Given the description of an element on the screen output the (x, y) to click on. 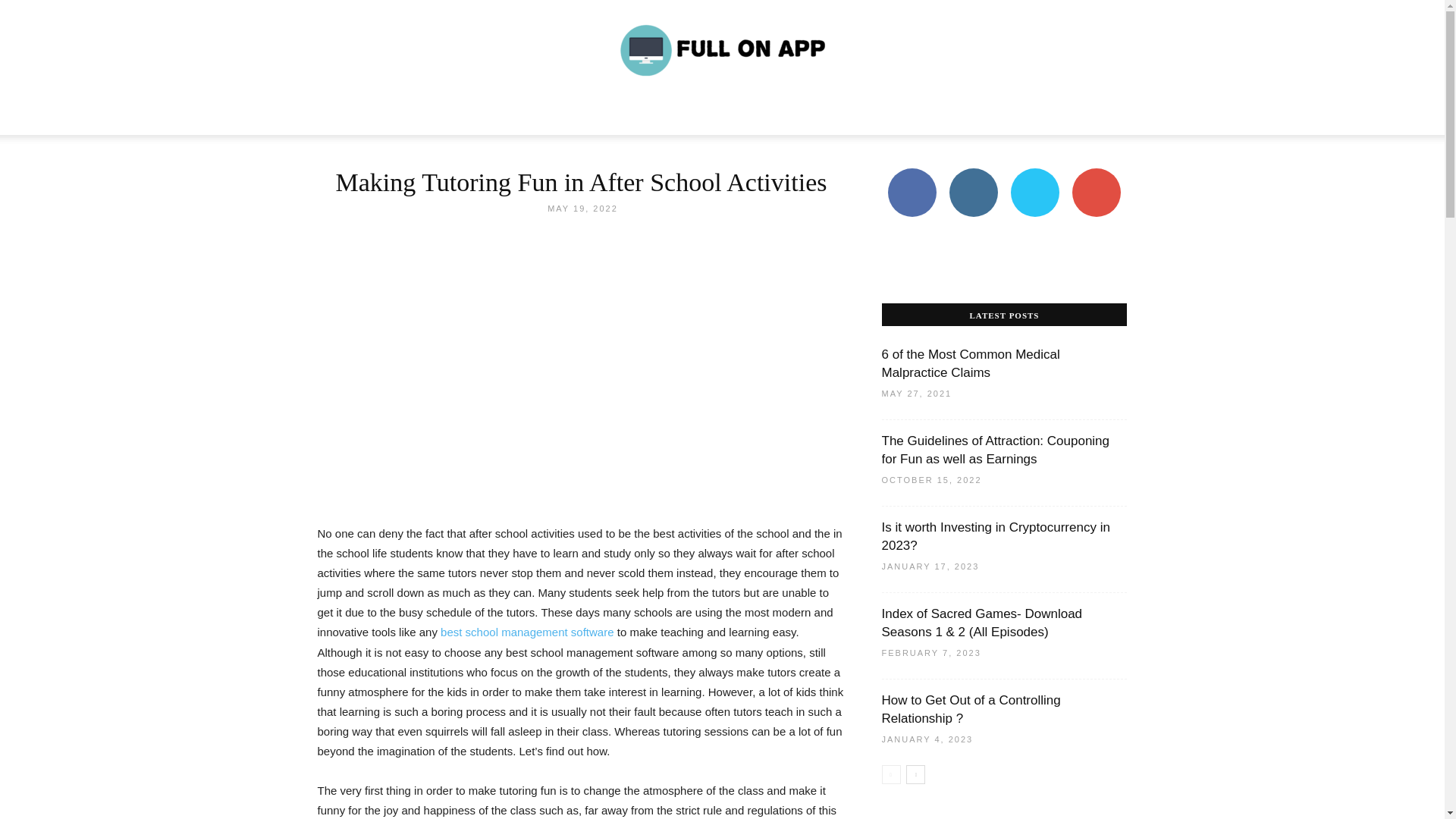
TECHNOLOGY (442, 116)
APPS (506, 116)
GADGETS (620, 116)
HOME (377, 116)
PC NEWS (558, 116)
